Given the description of an element on the screen output the (x, y) to click on. 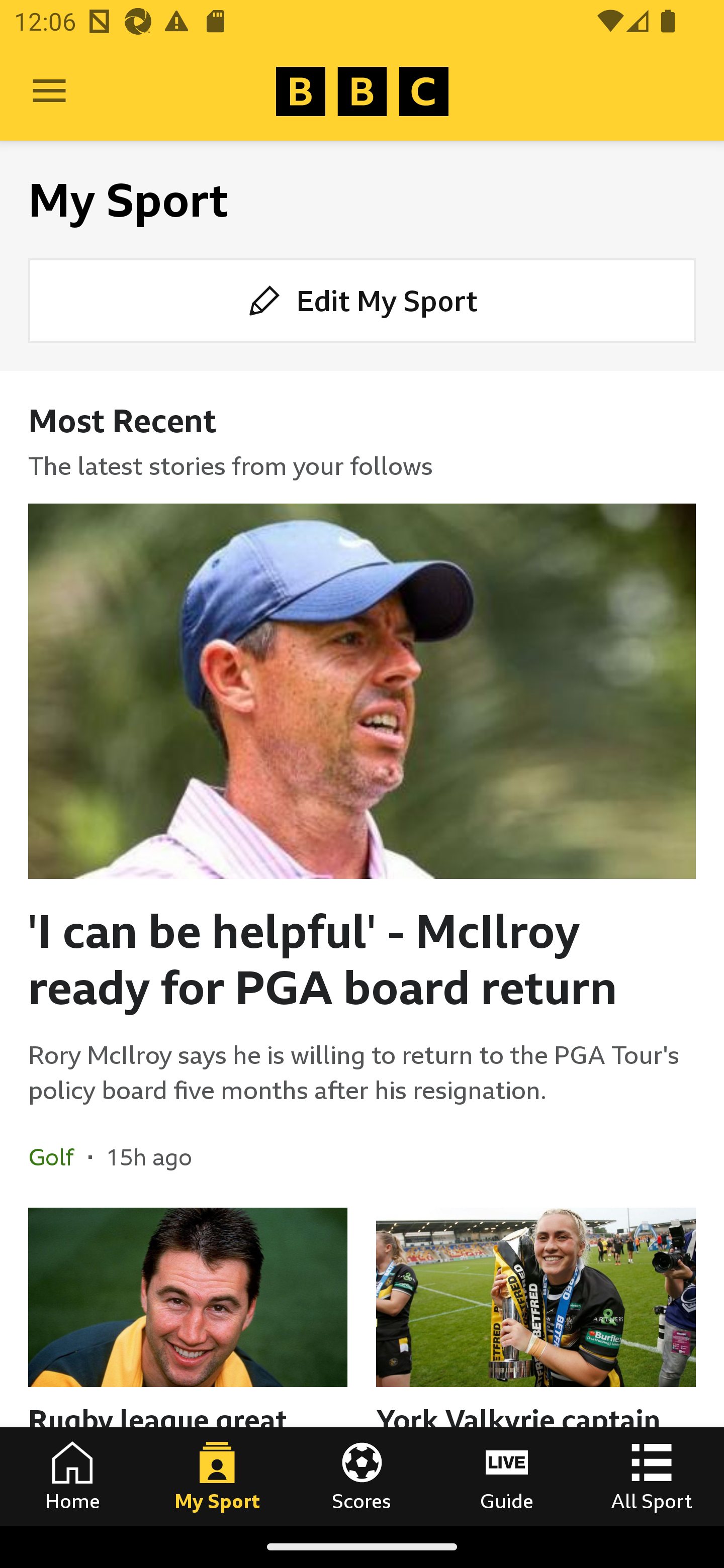
Open Menu (49, 91)
Edit My Sport (361, 300)
Golf In the section Golf (58, 1156)
Home (72, 1475)
Scores (361, 1475)
Guide (506, 1475)
All Sport (651, 1475)
